Given the description of an element on the screen output the (x, y) to click on. 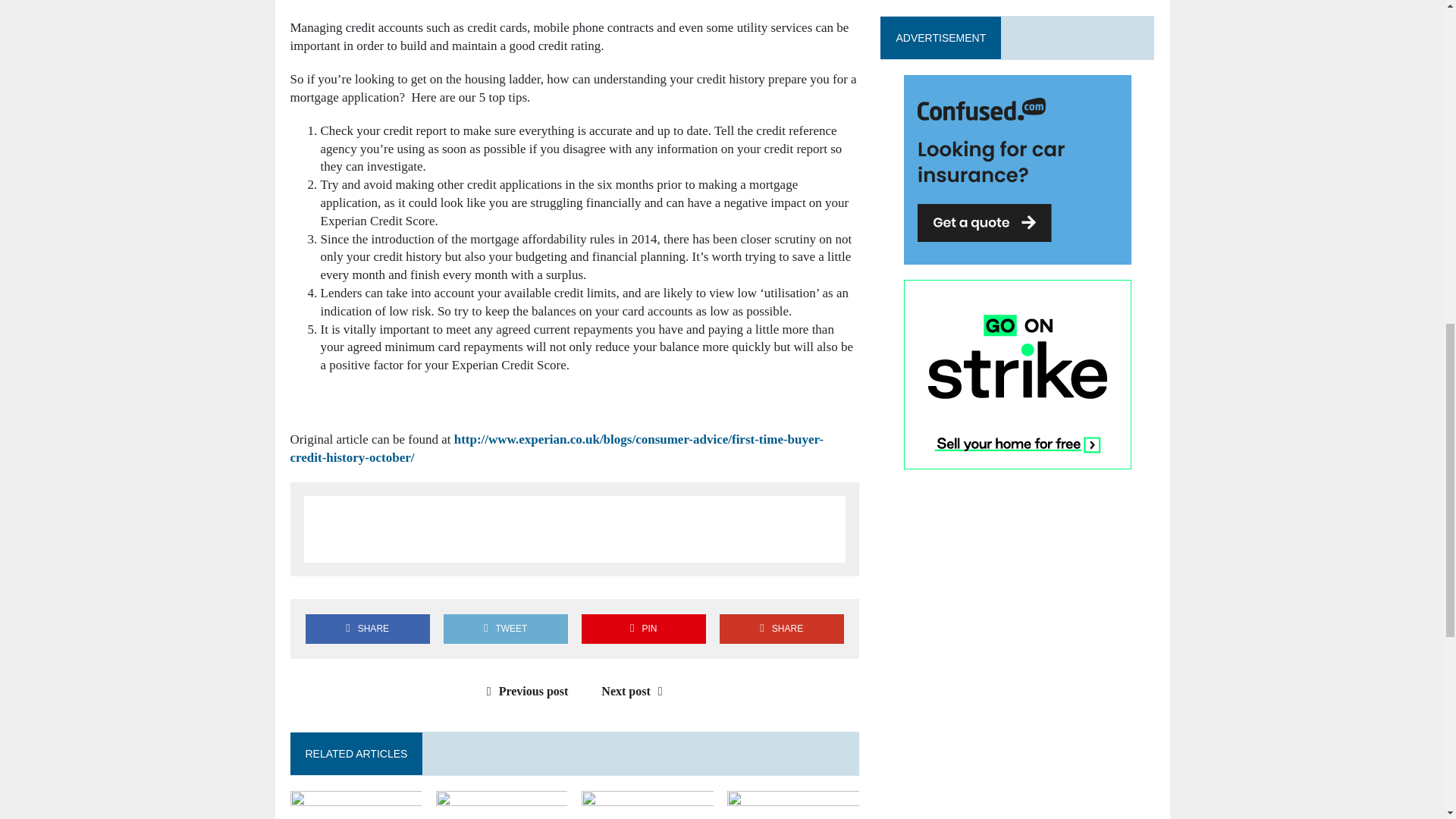
Share on Facebook (366, 628)
